Given the description of an element on the screen output the (x, y) to click on. 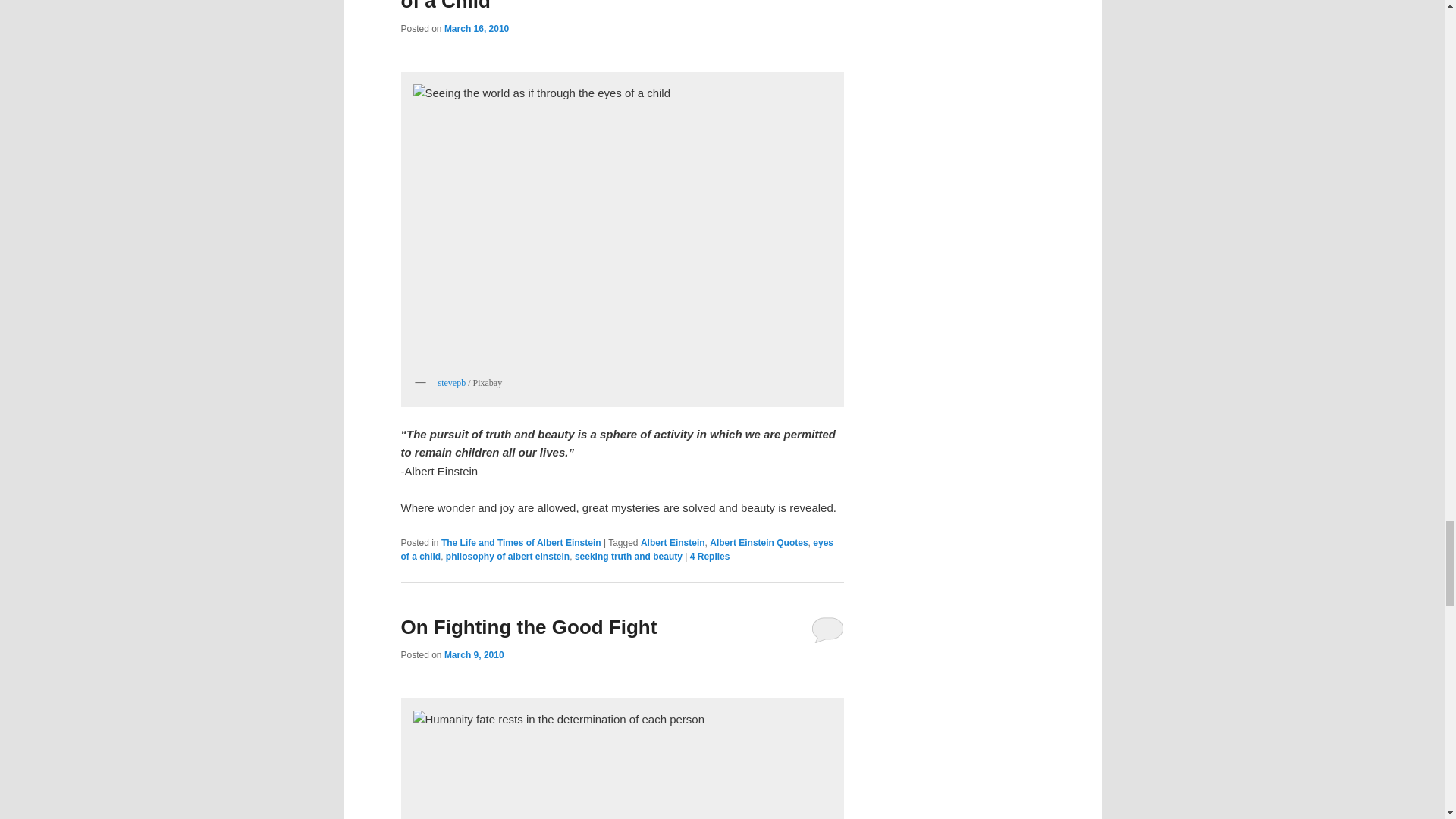
7:51 pm (473, 655)
7:41 pm (476, 28)
